Given the description of an element on the screen output the (x, y) to click on. 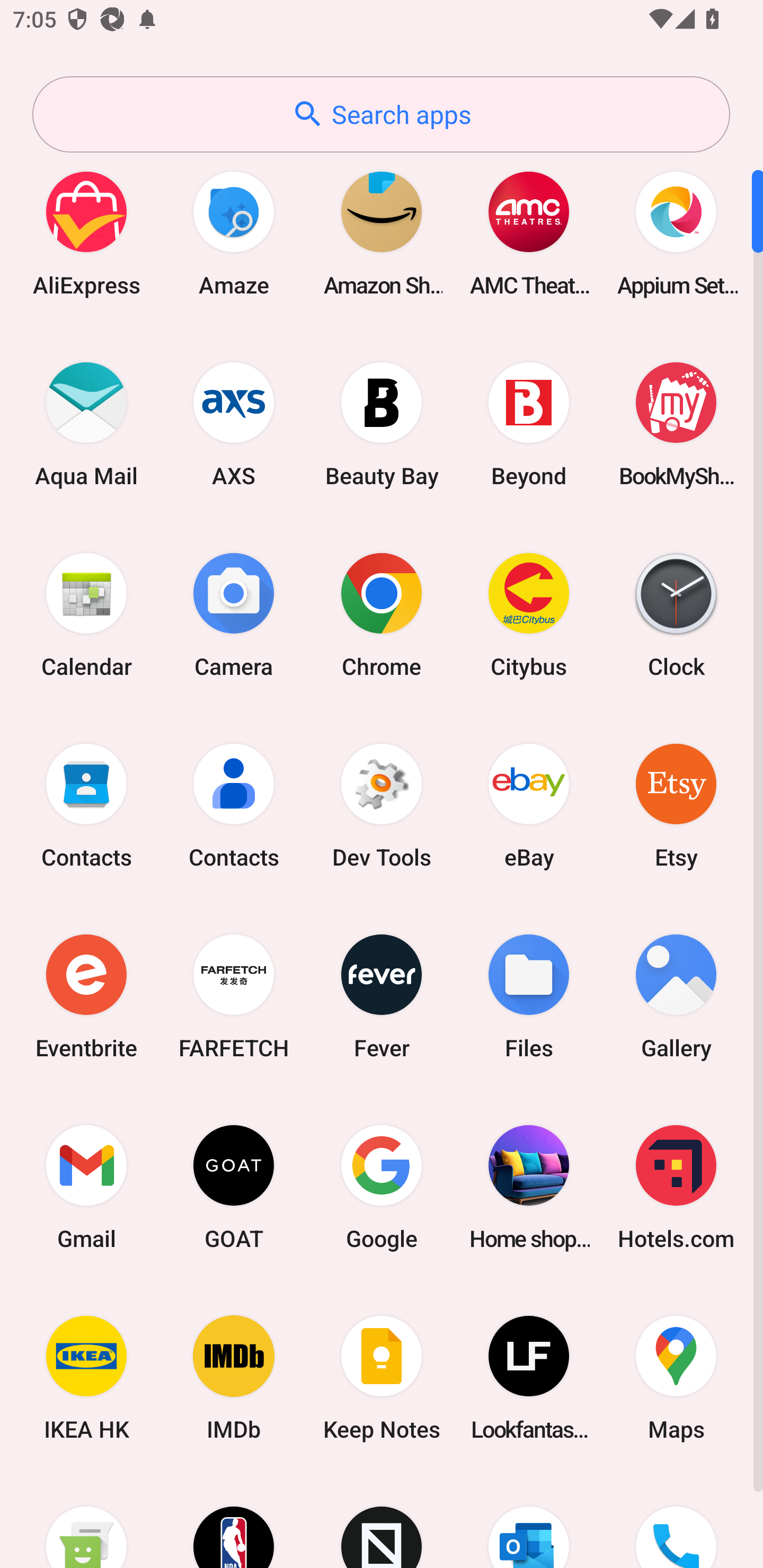
  Search apps (381, 114)
AliExpress (86, 233)
Amaze (233, 233)
Amazon Shopping (381, 233)
AMC Theatres (528, 233)
Appium Settings (676, 233)
Aqua Mail (86, 424)
AXS (233, 424)
Beauty Bay (381, 424)
Beyond (528, 424)
BookMyShow (676, 424)
Calendar (86, 614)
Camera (233, 614)
Chrome (381, 614)
Citybus (528, 614)
Clock (676, 614)
Contacts (86, 805)
Contacts (233, 805)
Dev Tools (381, 805)
eBay (528, 805)
Etsy (676, 805)
Eventbrite (86, 996)
FARFETCH (233, 996)
Fever (381, 996)
Files (528, 996)
Gallery (676, 996)
Gmail (86, 1186)
GOAT (233, 1186)
Google (381, 1186)
Home shopping (528, 1186)
Hotels.com (676, 1186)
IKEA HK (86, 1377)
IMDb (233, 1377)
Keep Notes (381, 1377)
Lookfantastic (528, 1377)
Maps (676, 1377)
